Given the description of an element on the screen output the (x, y) to click on. 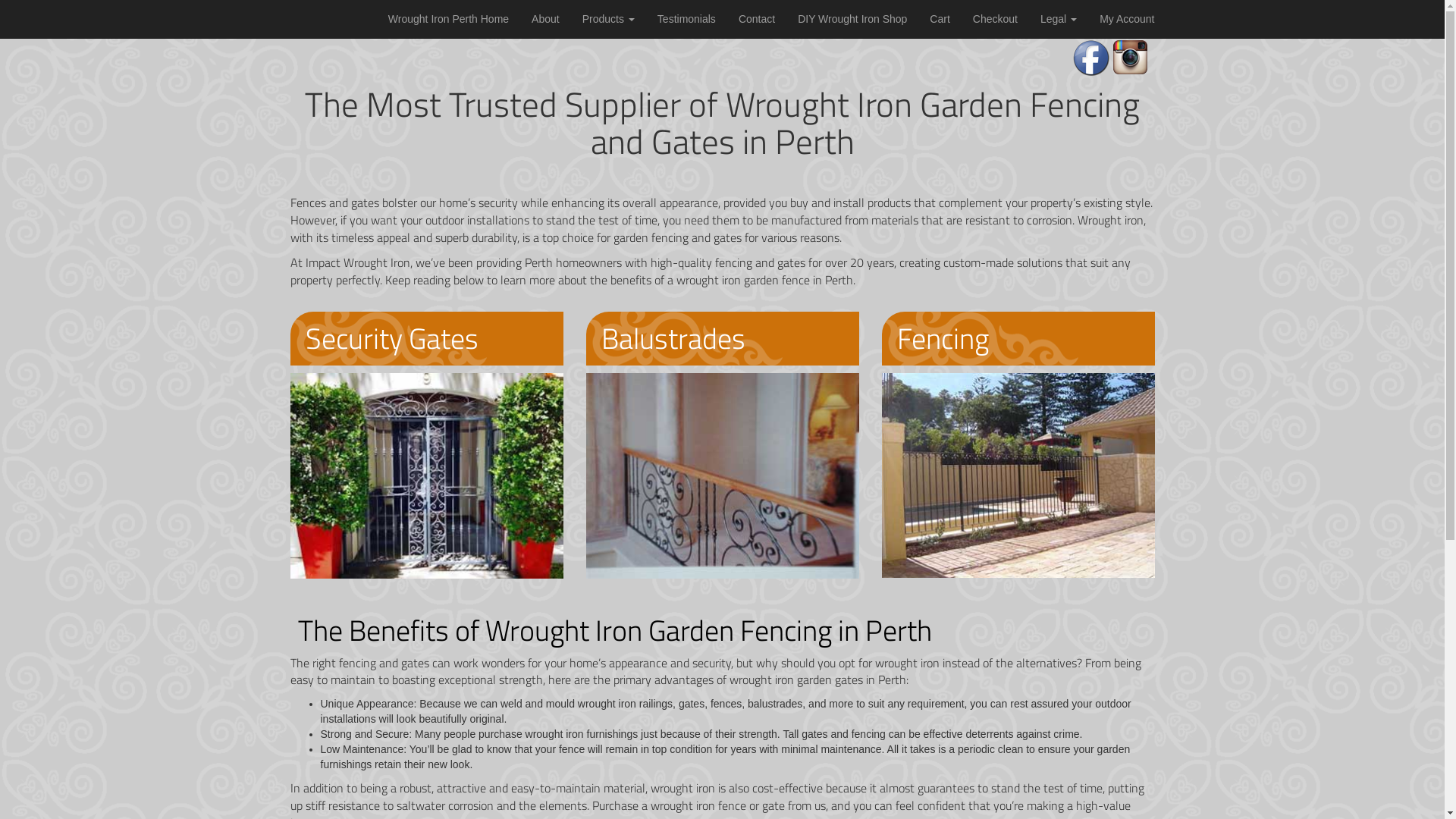
DIY Wrought Iron Shop Element type: text (852, 18)
Testimonials Element type: text (686, 18)
Woodrail With Black Scrolls Balustrade Element type: hover (721, 475)
My Account Element type: text (1126, 18)
Legal Element type: text (1058, 18)
About Element type: text (545, 18)
Wrought Iron Perth Home Element type: text (448, 18)
Checkout Element type: text (995, 18)
Cart Element type: text (939, 18)
Sliding Driveway Gate Element type: hover (425, 475)
Products Element type: text (608, 18)
Security Gates Element type: text (390, 338)
Balustrades Element type: text (672, 338)
Tuscan Black Pool Fence Element type: hover (1017, 475)
Fencing Element type: text (942, 338)
Contact Element type: text (756, 18)
